Given the description of an element on the screen output the (x, y) to click on. 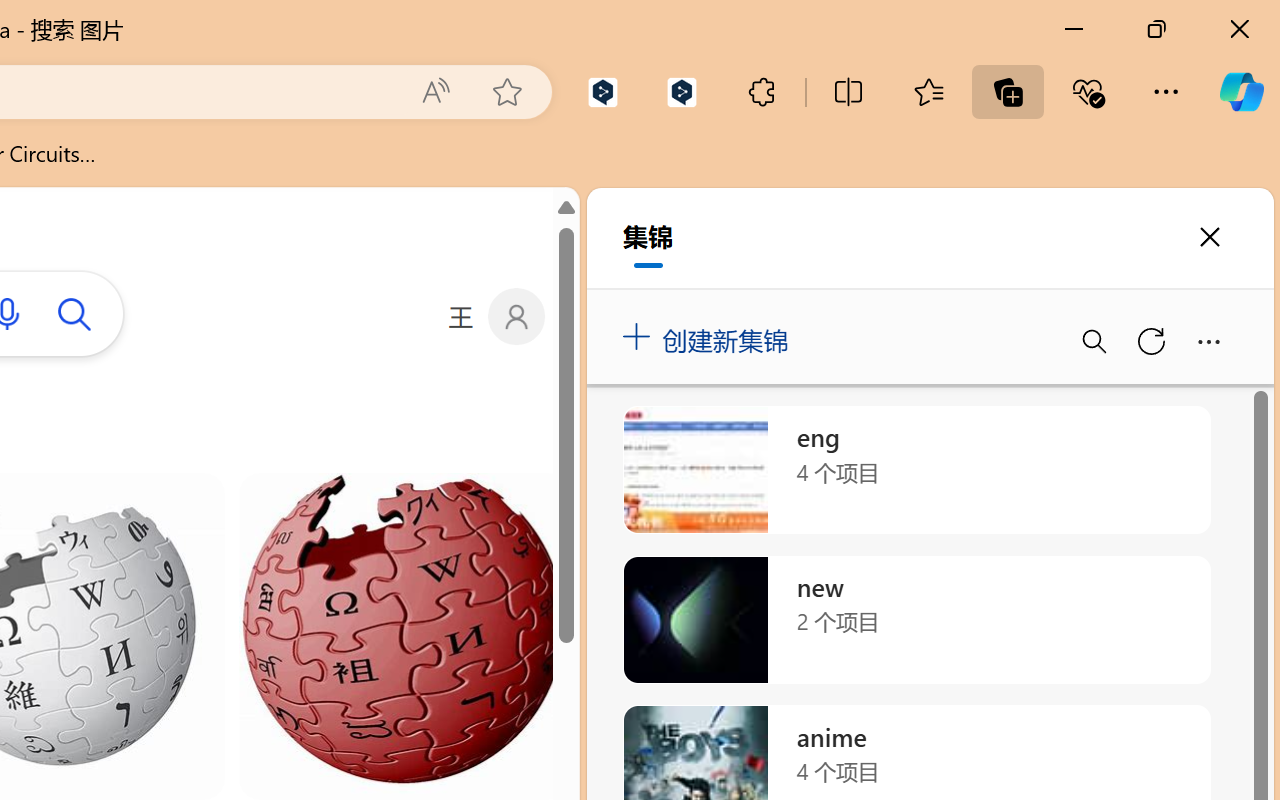
Czech (detected) (1037, 250)
Czech (991, 455)
